Given the description of an element on the screen output the (x, y) to click on. 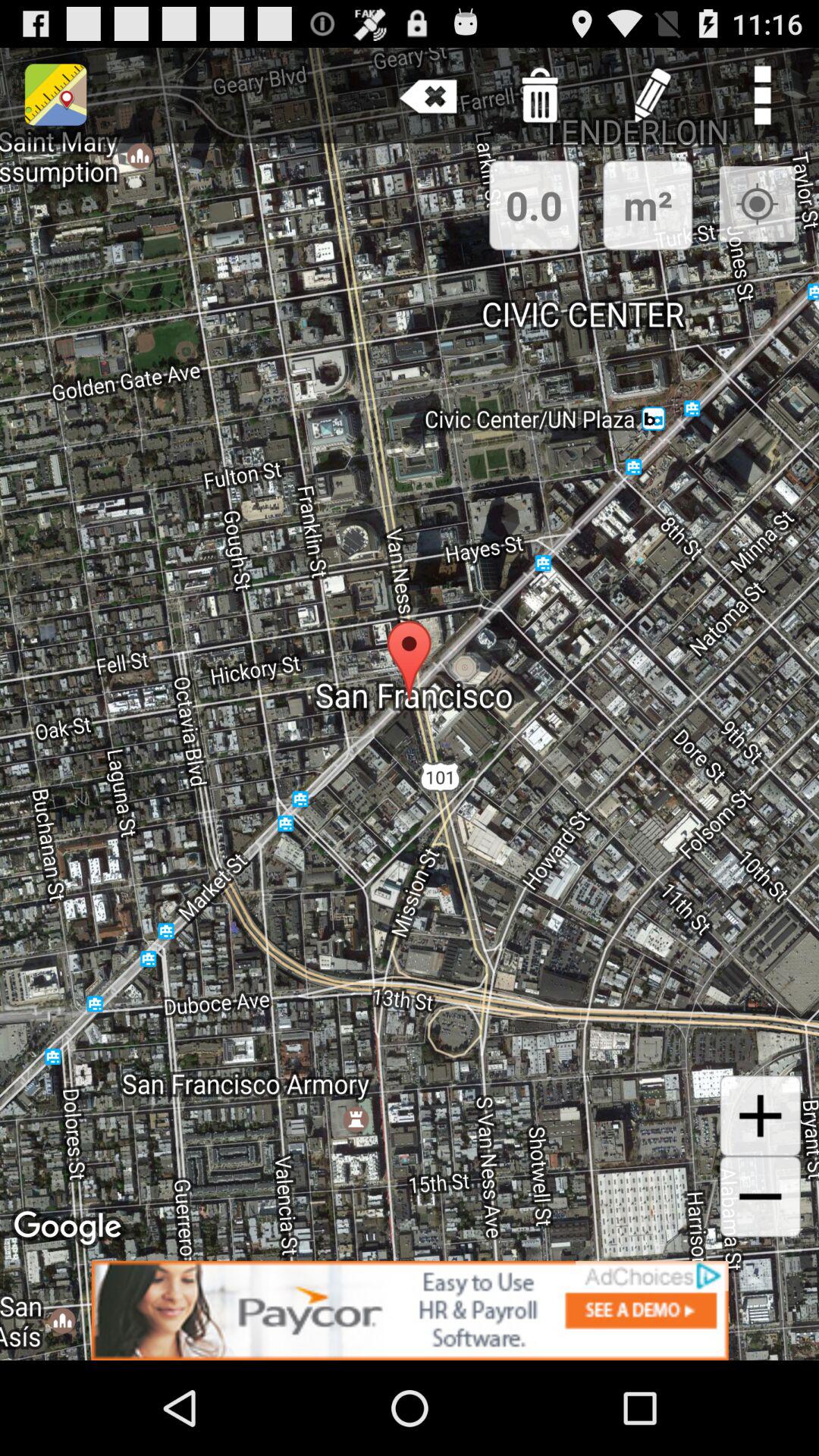
choose app above 0.0 (428, 95)
